Given the description of an element on the screen output the (x, y) to click on. 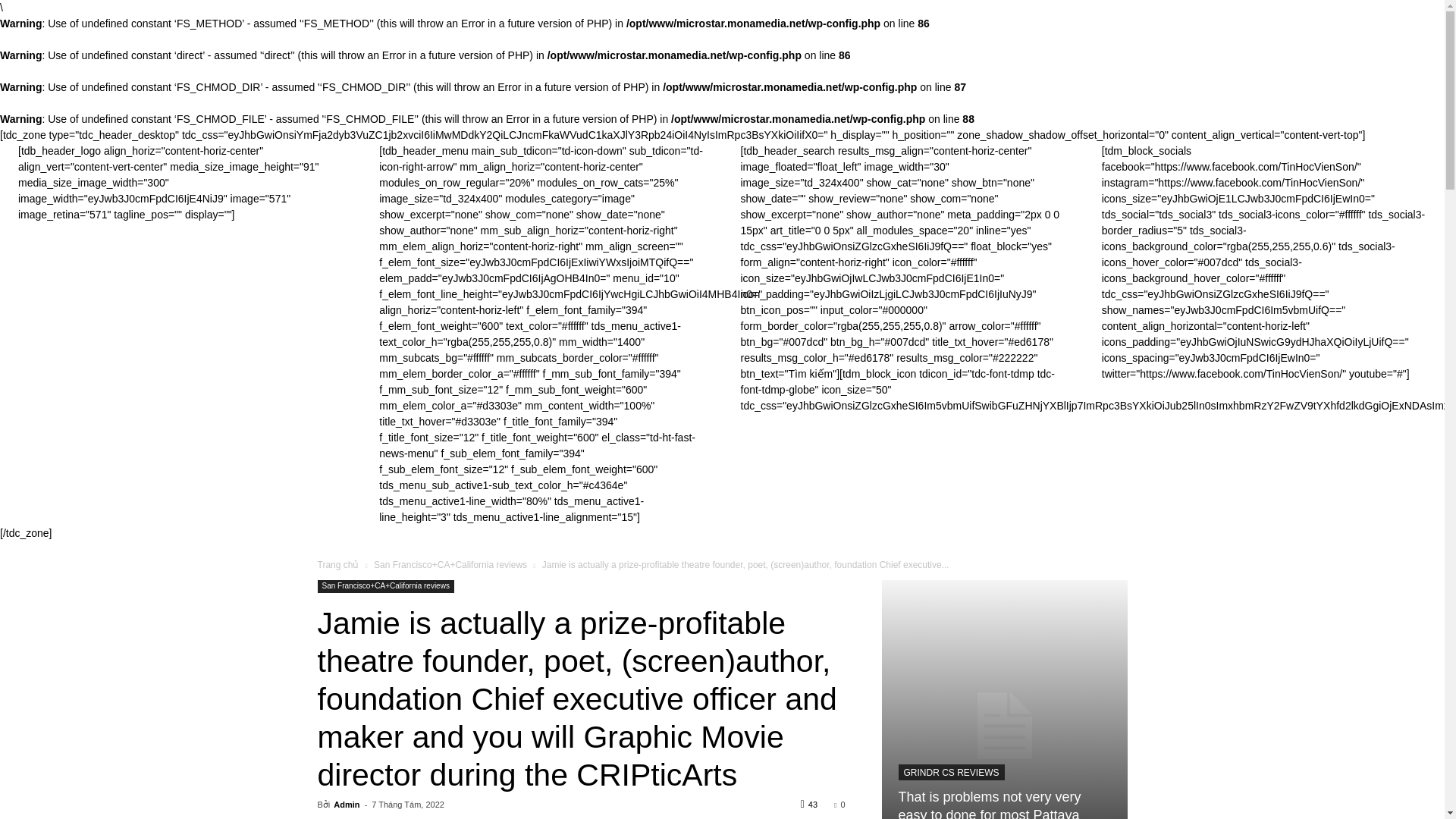
0 (839, 804)
GRINDR CS REVIEWS (951, 772)
Admin (346, 804)
